Given the description of an element on the screen output the (x, y) to click on. 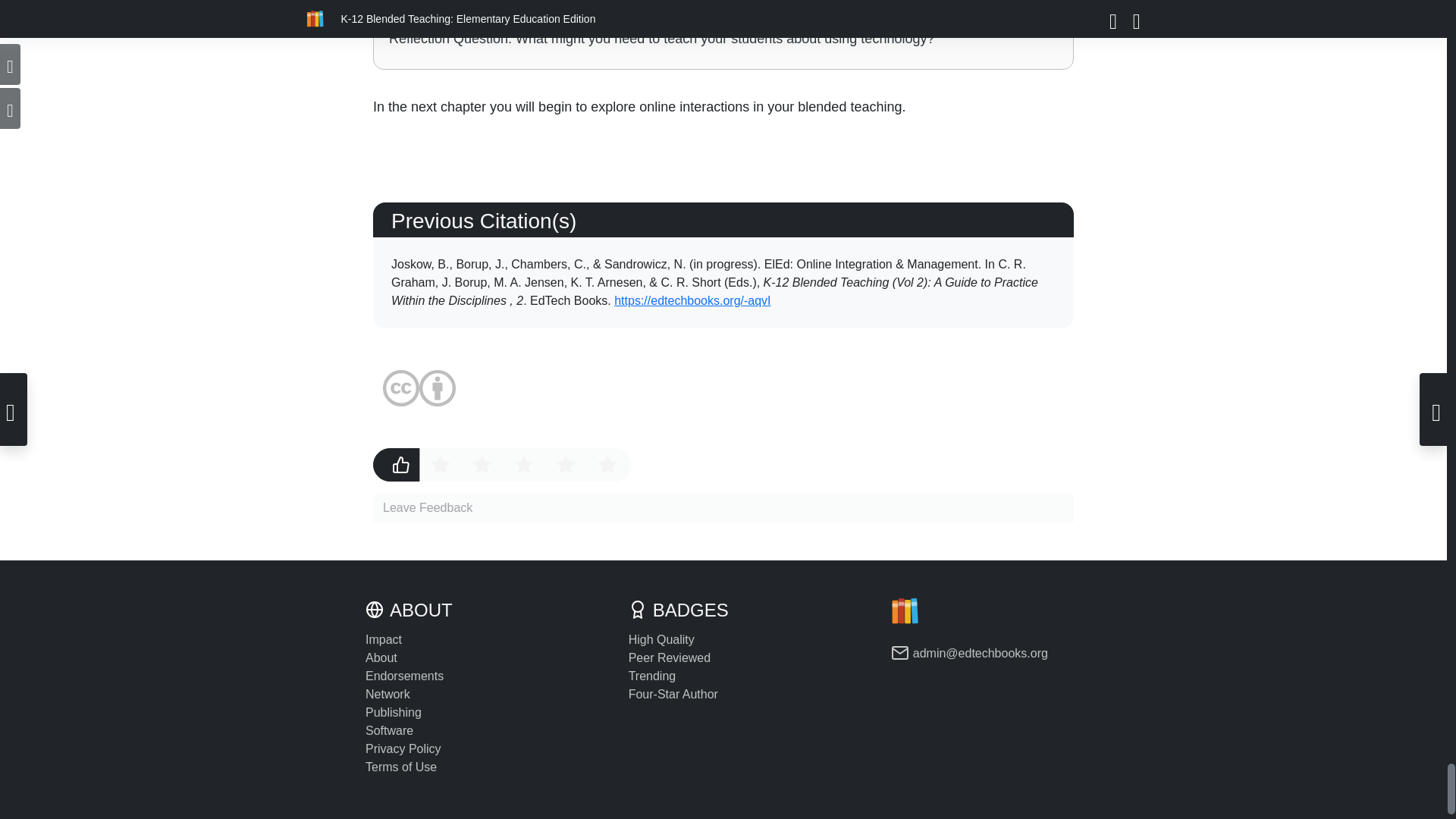
George Mason University (479, 264)
Brigham Young University (708, 273)
George Mason University (464, 282)
Alpine School District (528, 282)
Brigham Young University (606, 282)
Texas Tech University (690, 282)
